Given the description of an element on the screen output the (x, y) to click on. 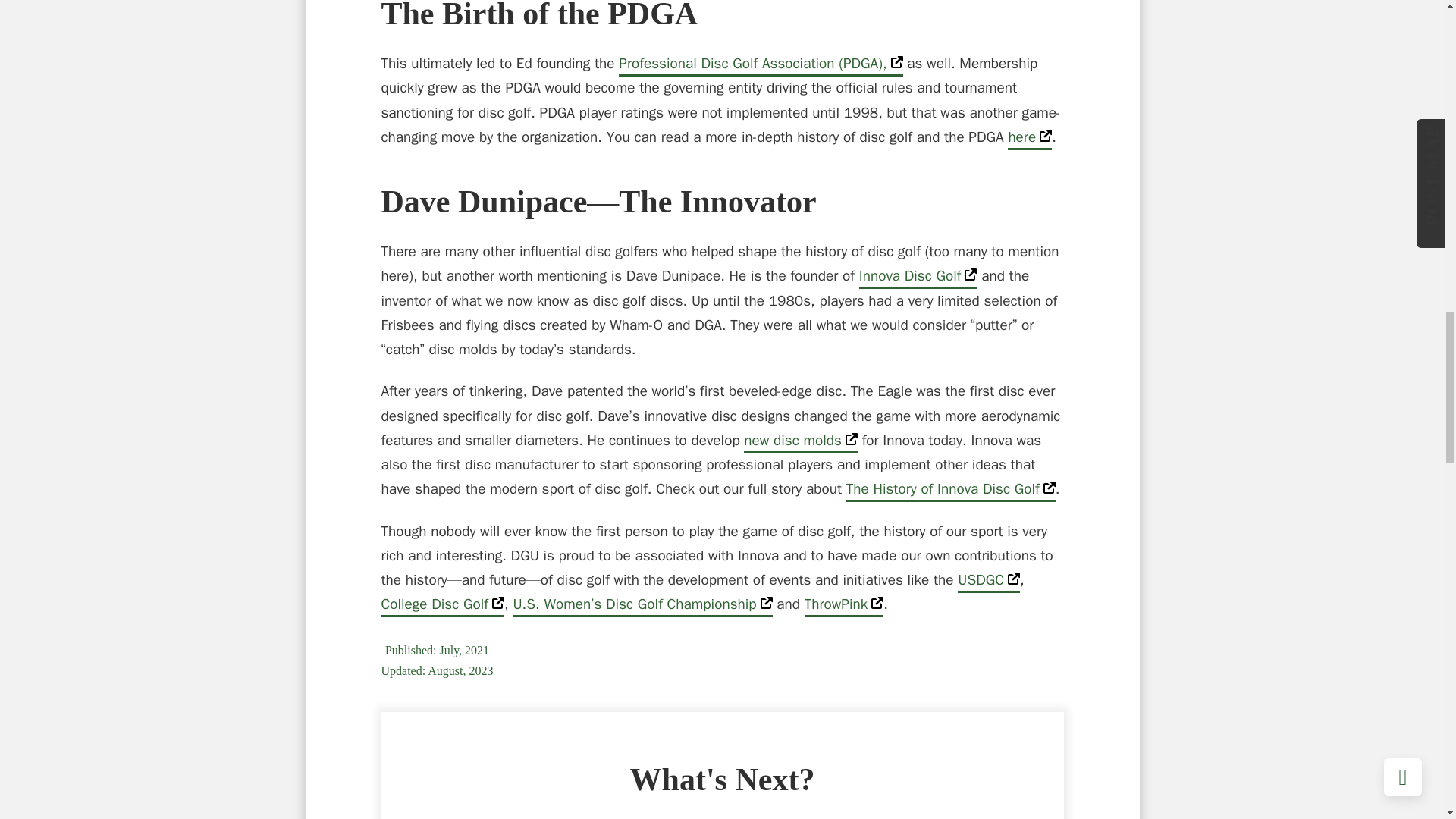
Innova Disc Golf (917, 277)
PDGA (760, 65)
PDGA History (1029, 138)
